Given the description of an element on the screen output the (x, y) to click on. 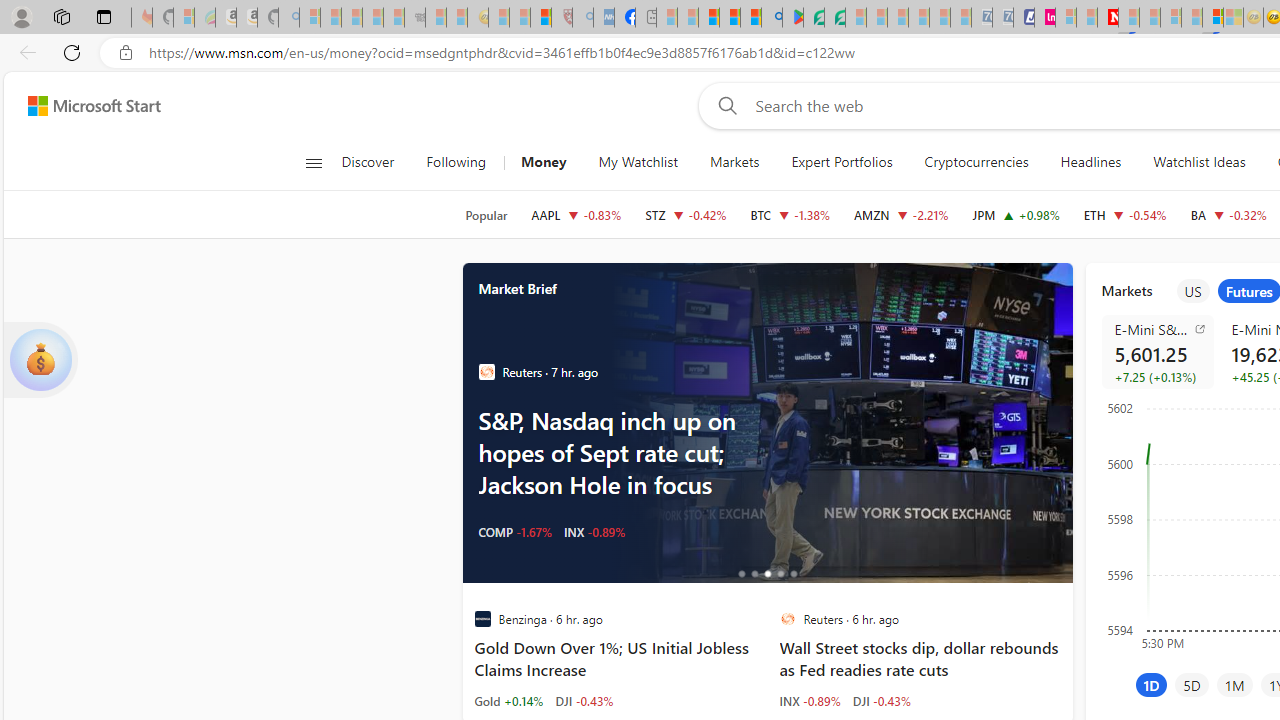
My Watchlist (637, 162)
Expert Portfolios (841, 162)
show card (40, 359)
